Given the description of an element on the screen output the (x, y) to click on. 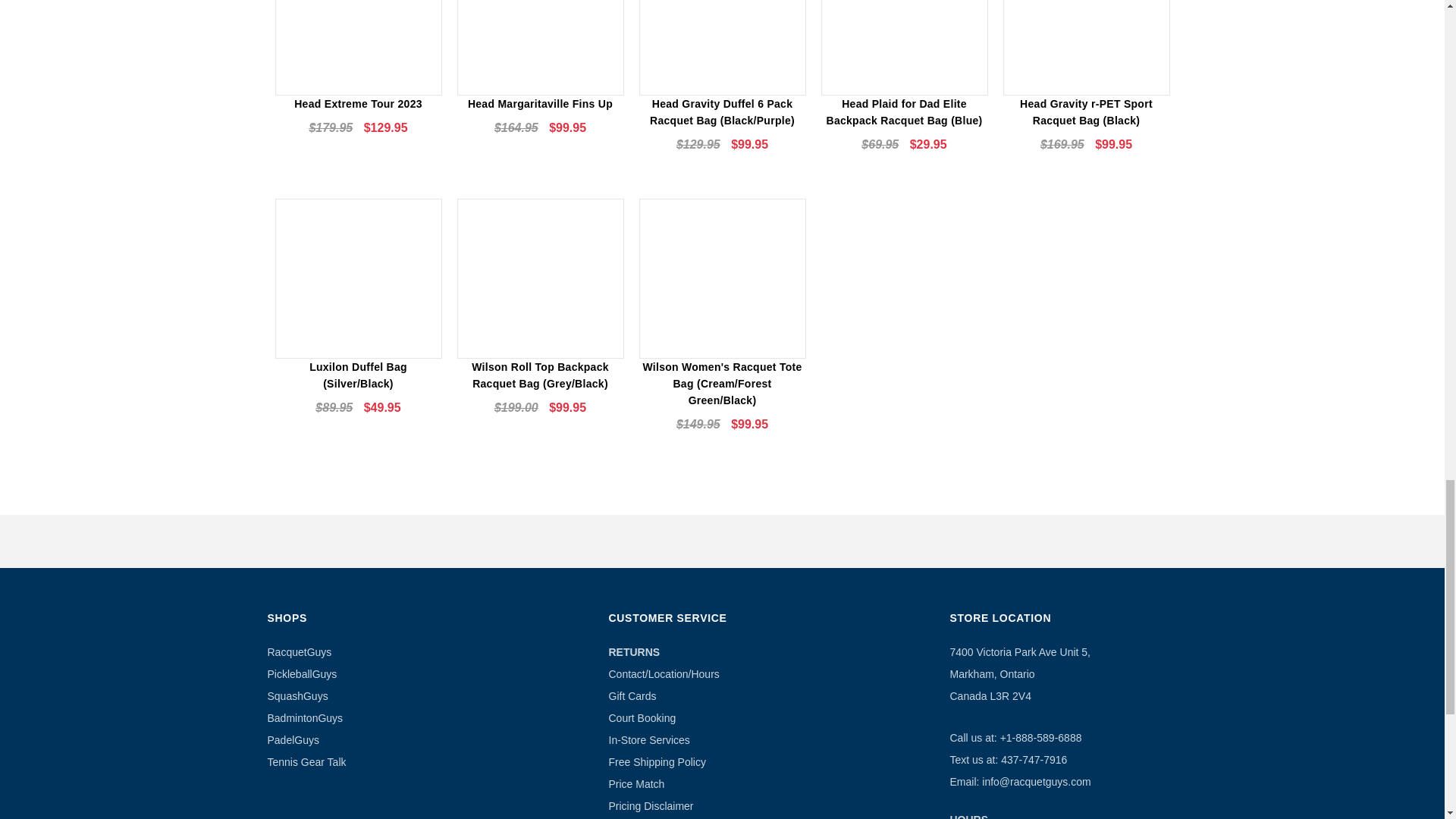
RacquetGuys (298, 652)
PickleballGuys (301, 674)
BadmintonGuys (304, 717)
SquashGuys (296, 695)
